Given the description of an element on the screen output the (x, y) to click on. 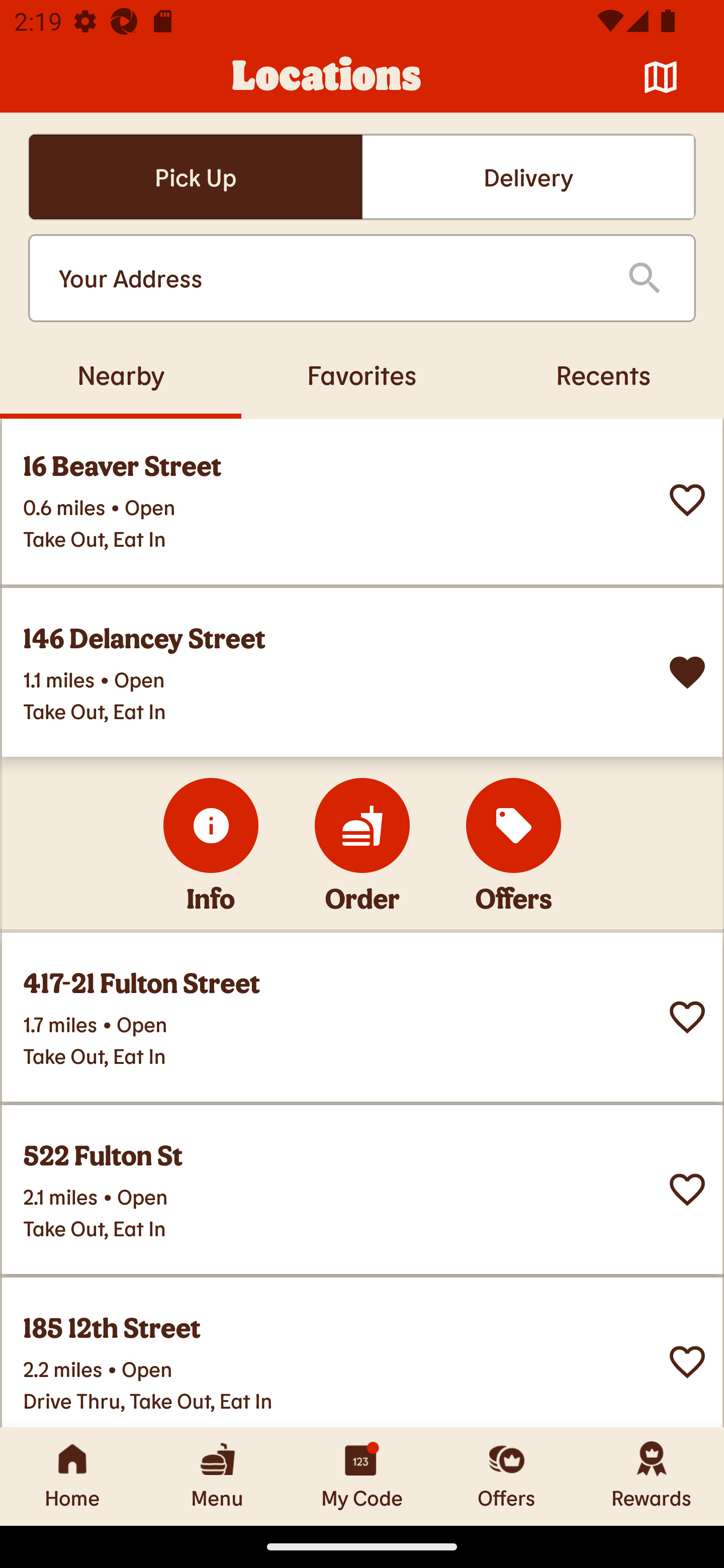
Map 󰦂 (660, 77)
Locations (326, 77)
Pick UpSelected Pick UpSelected Pick Up (195, 176)
Delivery Delivery Delivery (528, 176)
Your Address (327, 277)
Nearby (120, 374)
Favorites (361, 374)
Recents (603, 374)
Set this restaurant as a favorite  (687, 499)
Remove from Favorites?  (687, 671)
Info  (210, 825)
Order (361, 825)
Offers  (513, 825)
Set this restaurant as a favorite  (687, 1016)
Set this restaurant as a favorite  (687, 1189)
Set this restaurant as a favorite  (687, 1361)
Home (72, 1475)
Menu (216, 1475)
My Code (361, 1475)
Offers (506, 1475)
Rewards (651, 1475)
